Given the description of an element on the screen output the (x, y) to click on. 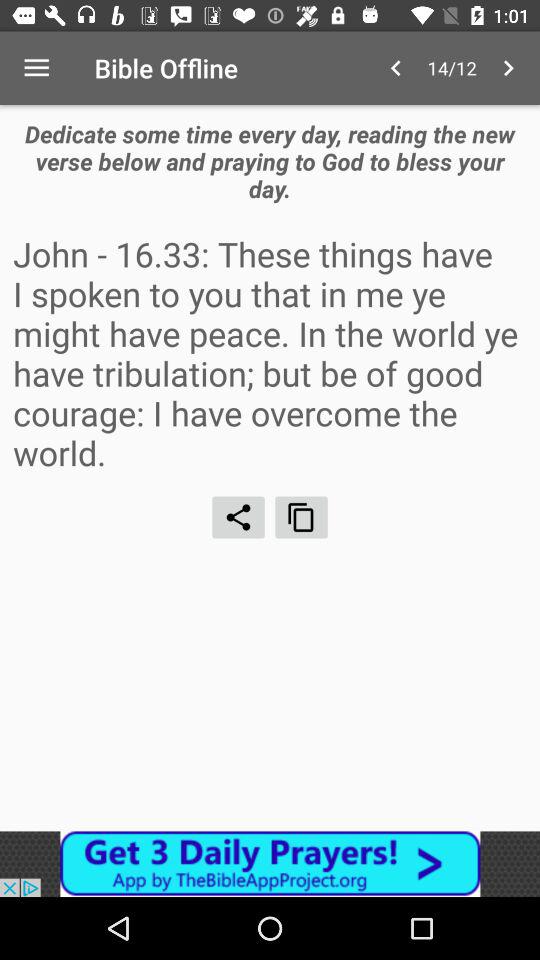
share (238, 517)
